Given the description of an element on the screen output the (x, y) to click on. 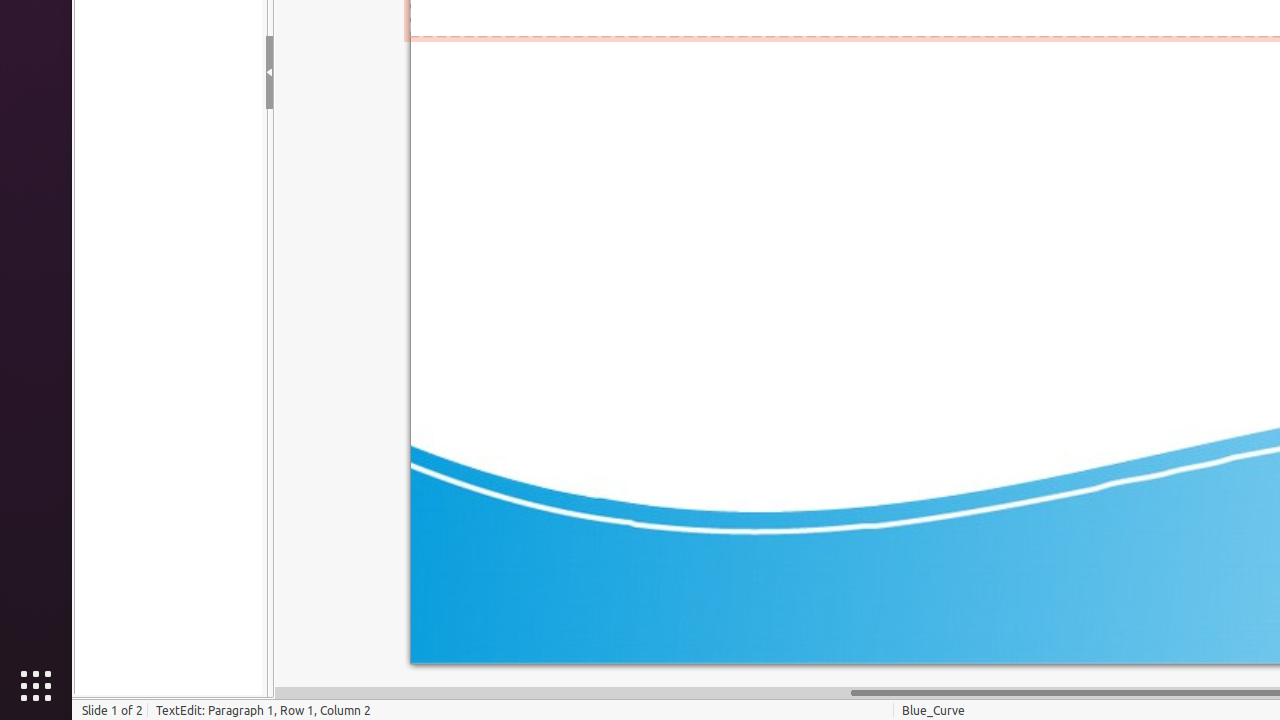
Show Applications Element type: toggle-button (36, 686)
